Given the description of an element on the screen output the (x, y) to click on. 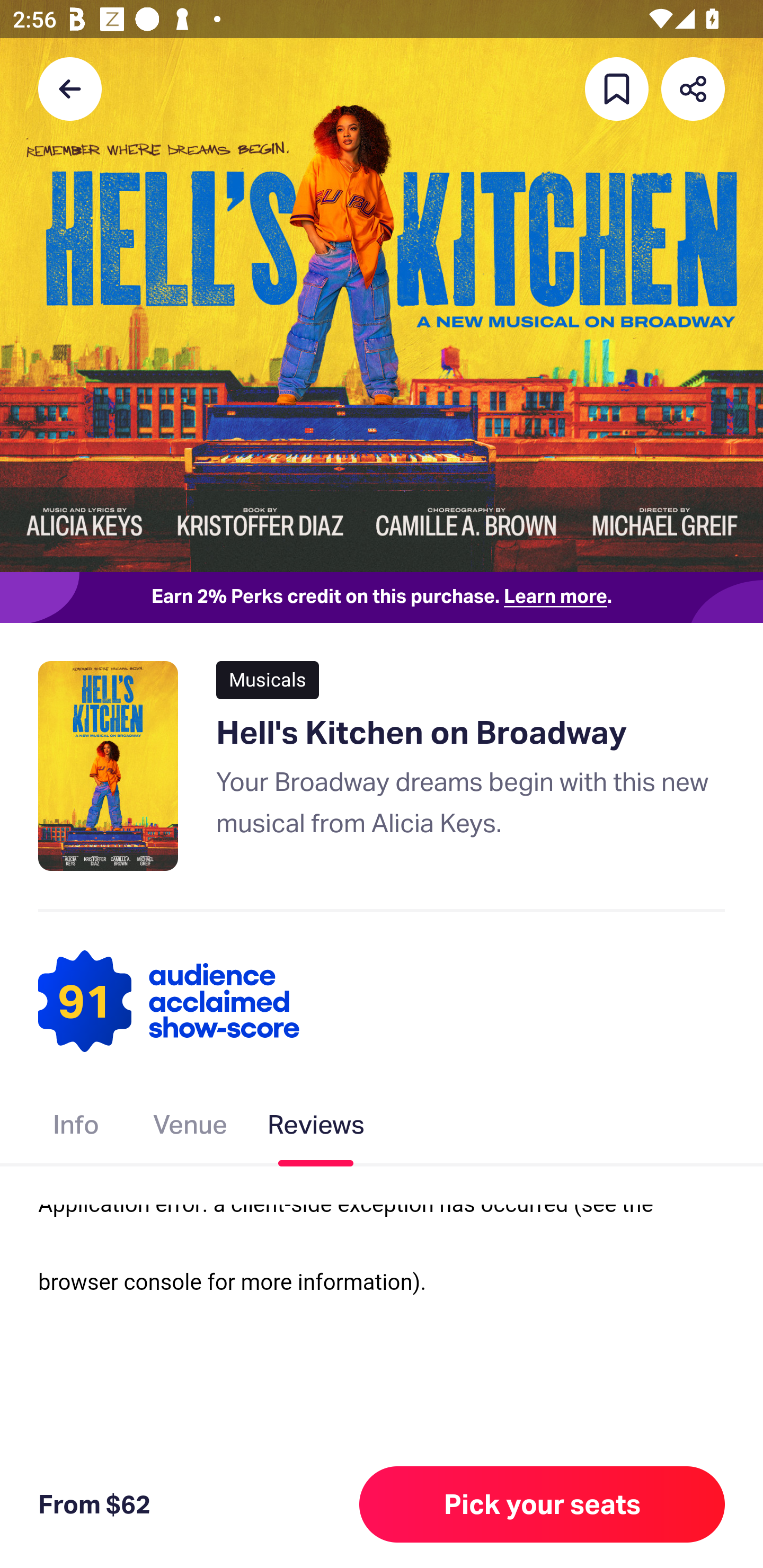
Earn 2% Perks credit on this purchase. Learn more. (381, 597)
Info (76, 1127)
Venue (190, 1127)
Pick your seats (541, 1504)
